Given the description of an element on the screen output the (x, y) to click on. 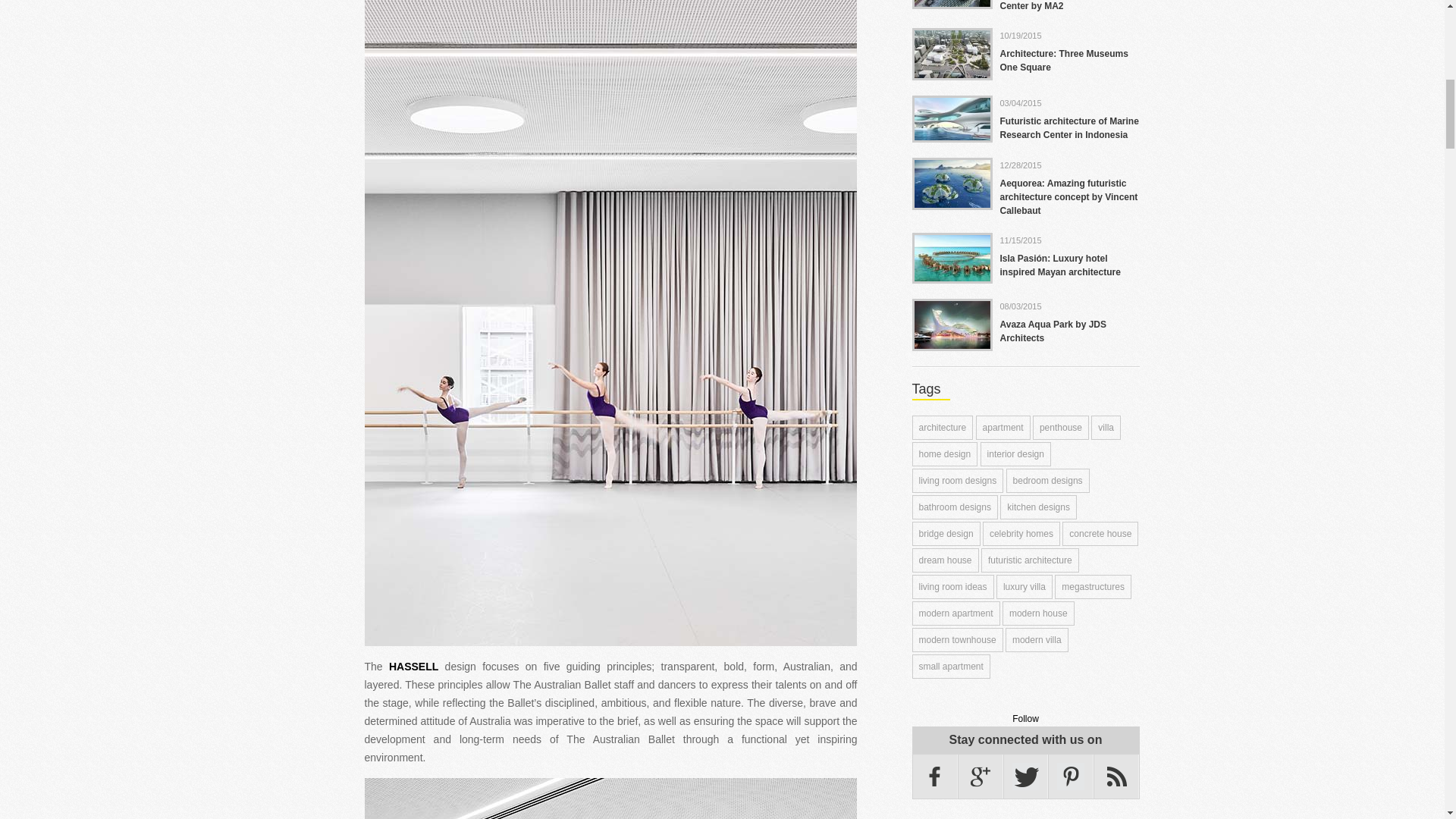
HASSELL (413, 666)
